Given the description of an element on the screen output the (x, y) to click on. 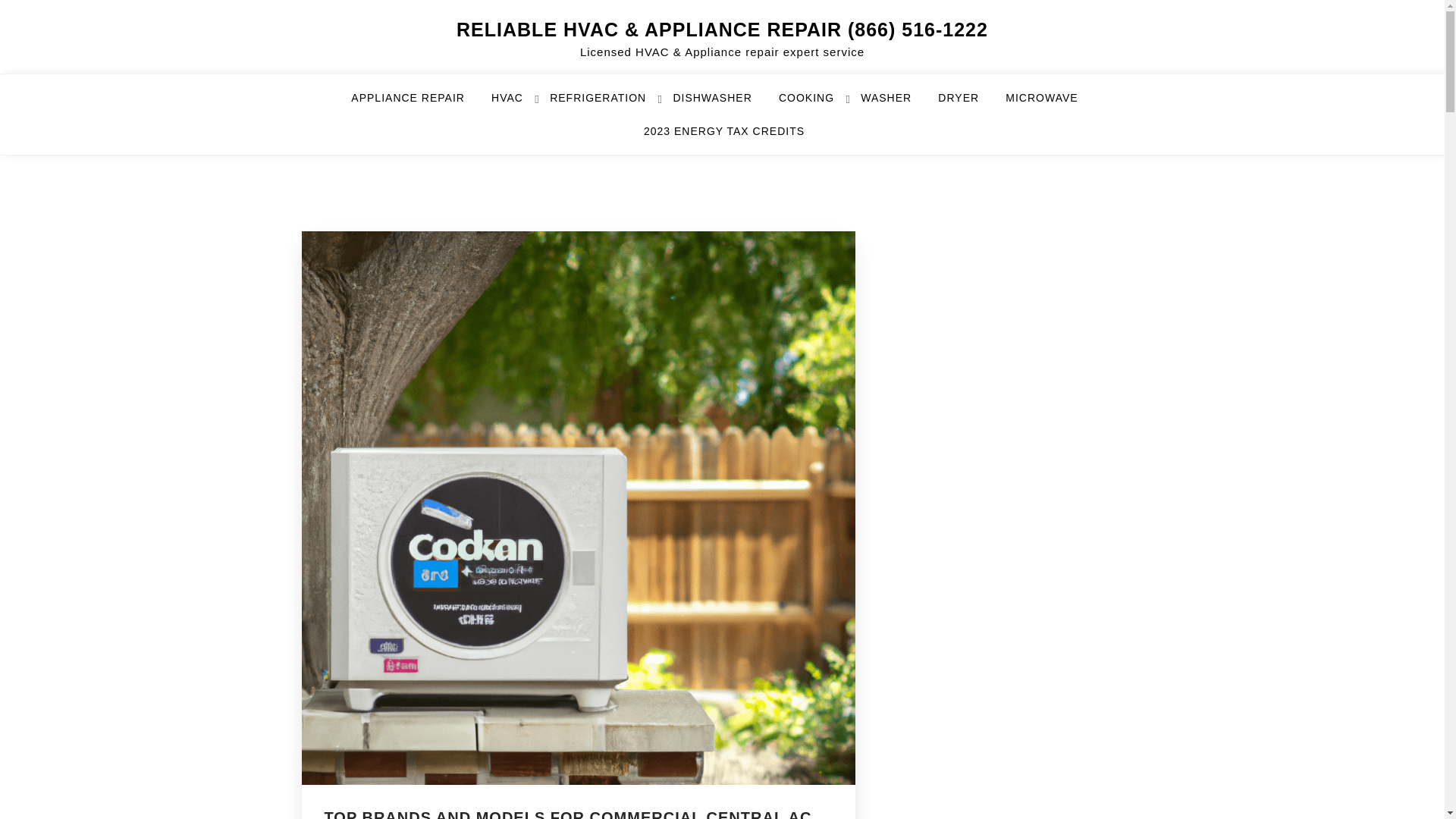
REFRIGERATION (607, 104)
DISHWASHER (721, 104)
2023 ENERGY TAX CREDITS (724, 137)
APPLIANCE REPAIR (416, 104)
MICROWAVE (1051, 104)
WASHER (895, 104)
HVAC (516, 104)
COOKING (815, 104)
DRYER (967, 104)
